Given the description of an element on the screen output the (x, y) to click on. 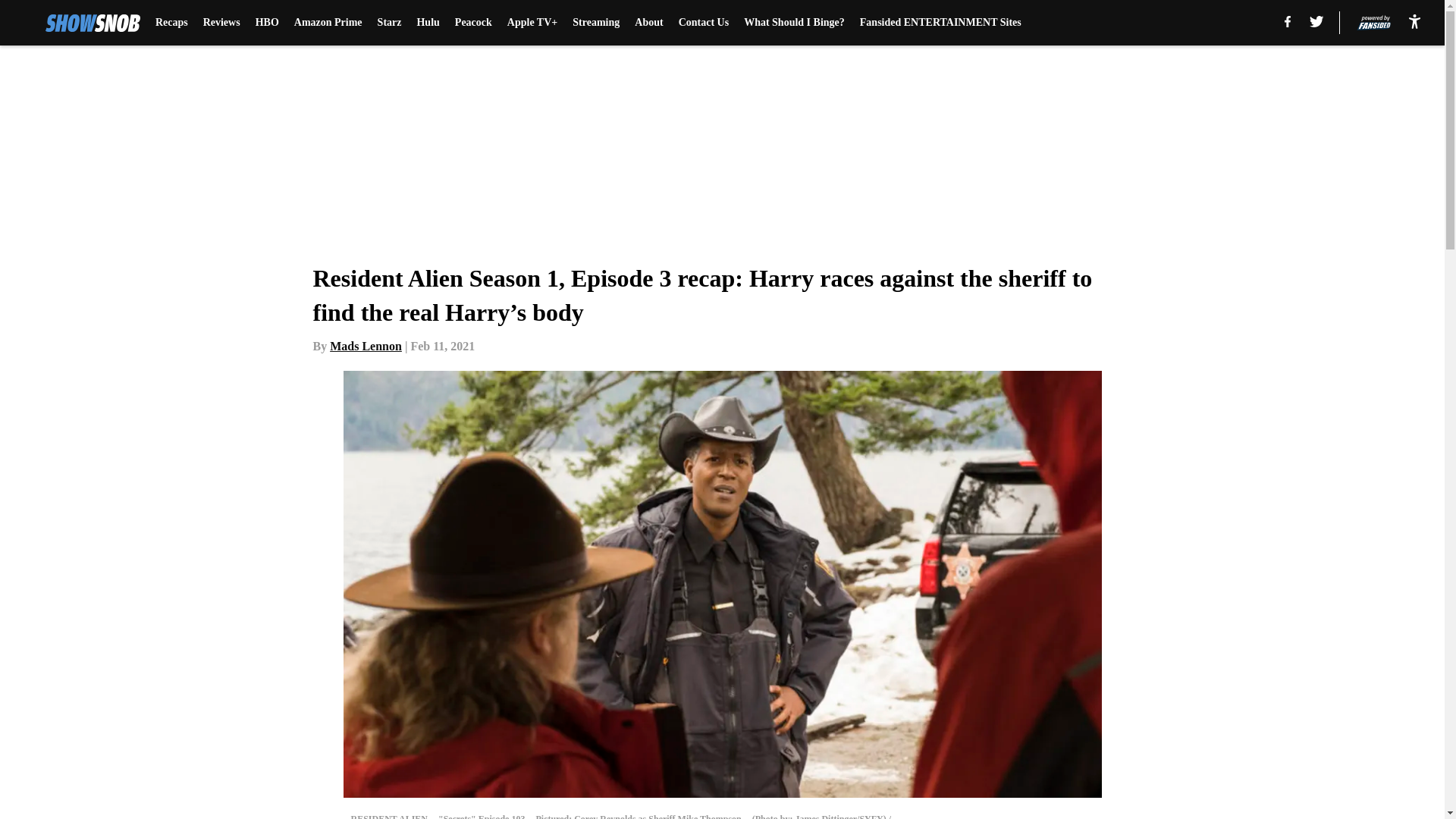
Contact Us (703, 22)
Reviews (221, 22)
About (648, 22)
What Should I Binge? (794, 22)
Fansided ENTERTAINMENT Sites (941, 22)
Amazon Prime (328, 22)
Recaps (171, 22)
Streaming (596, 22)
Peacock (473, 22)
Mads Lennon (365, 345)
